Given the description of an element on the screen output the (x, y) to click on. 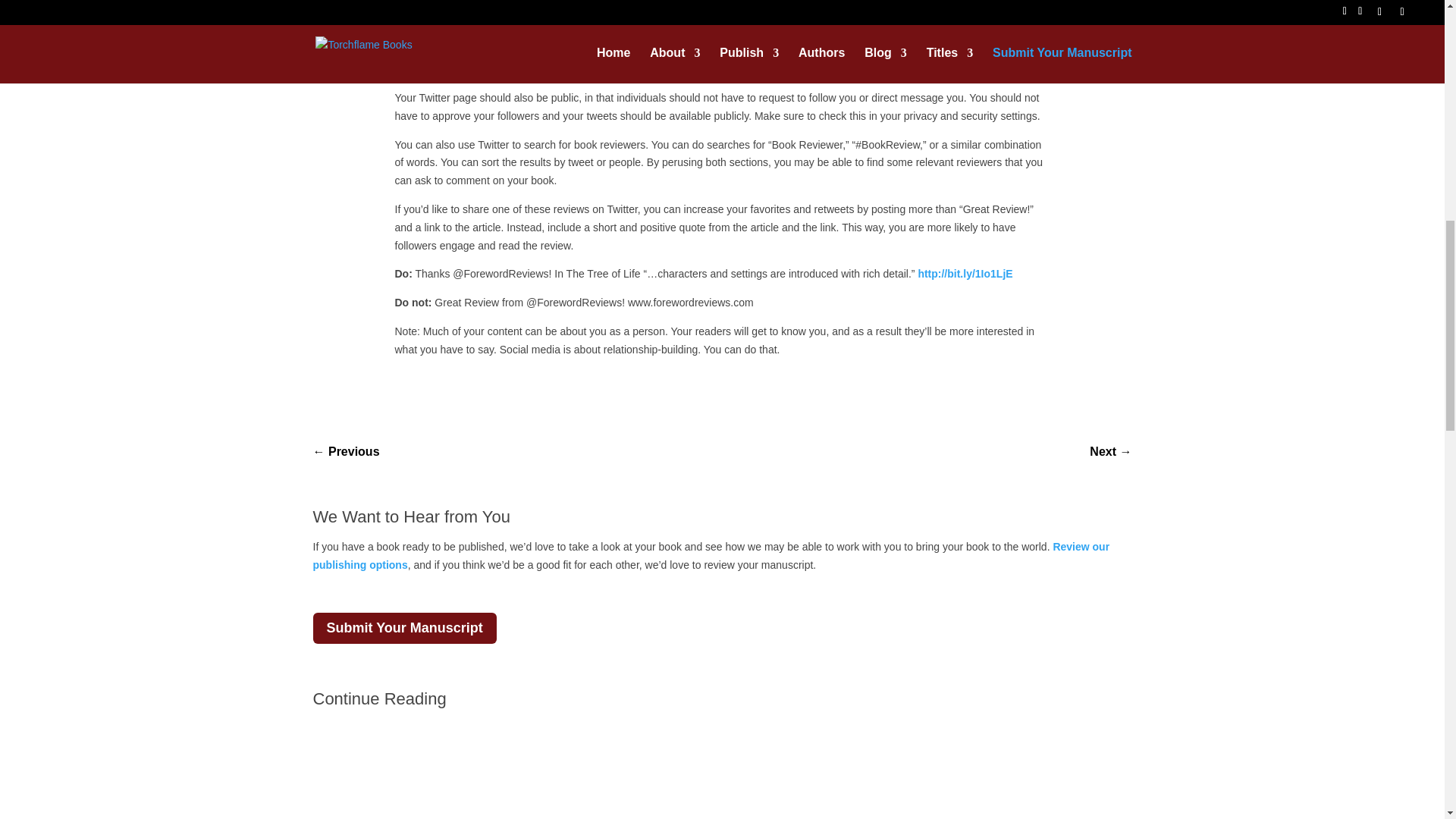
Review our publishing options (711, 555)
